Given the description of an element on the screen output the (x, y) to click on. 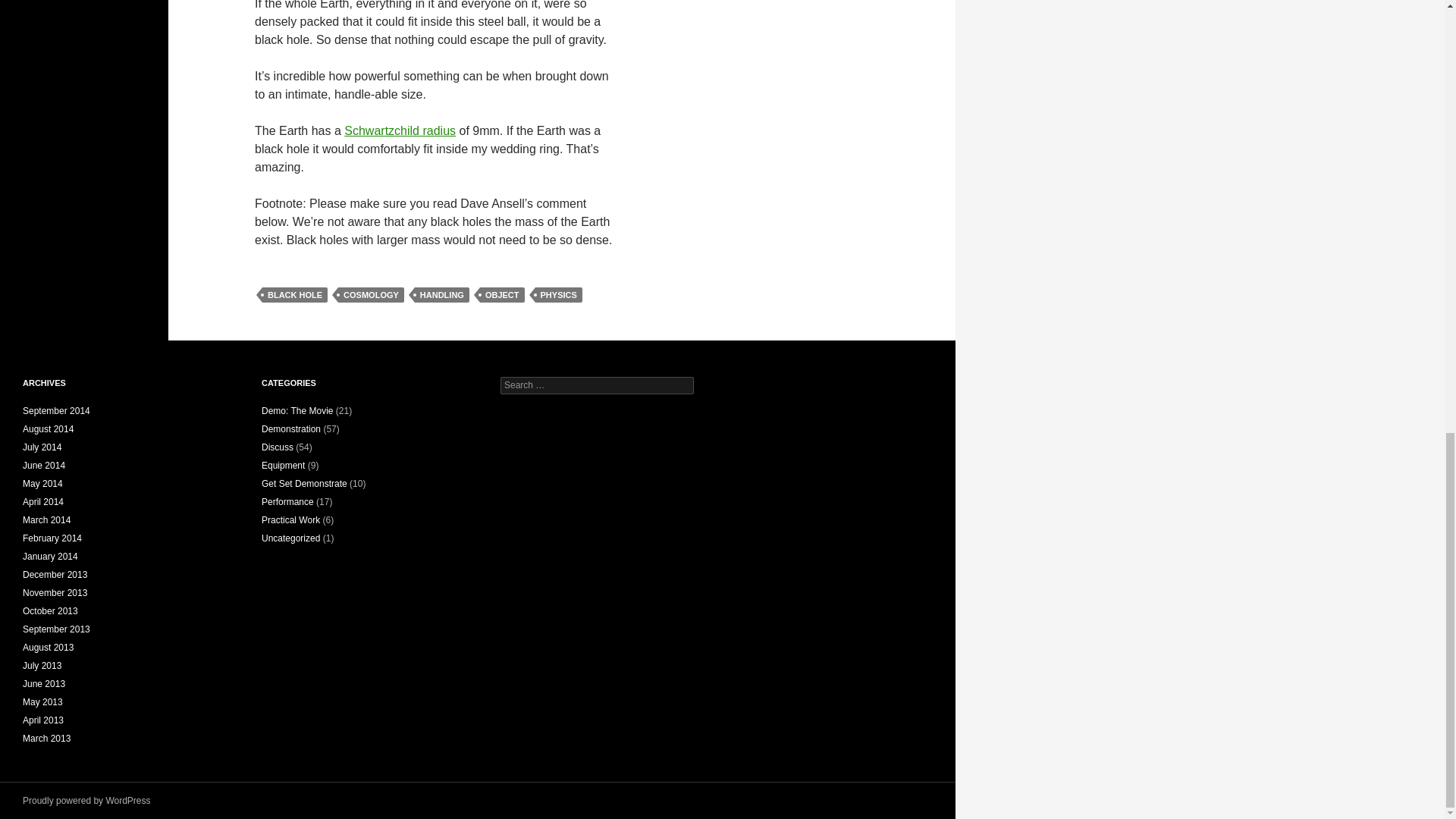
OBJECT (502, 294)
HANDLING (441, 294)
COSMOLOGY (370, 294)
BLACK HOLE (294, 294)
Schwartzchild radius (399, 130)
PHYSICS (558, 294)
